Given the description of an element on the screen output the (x, y) to click on. 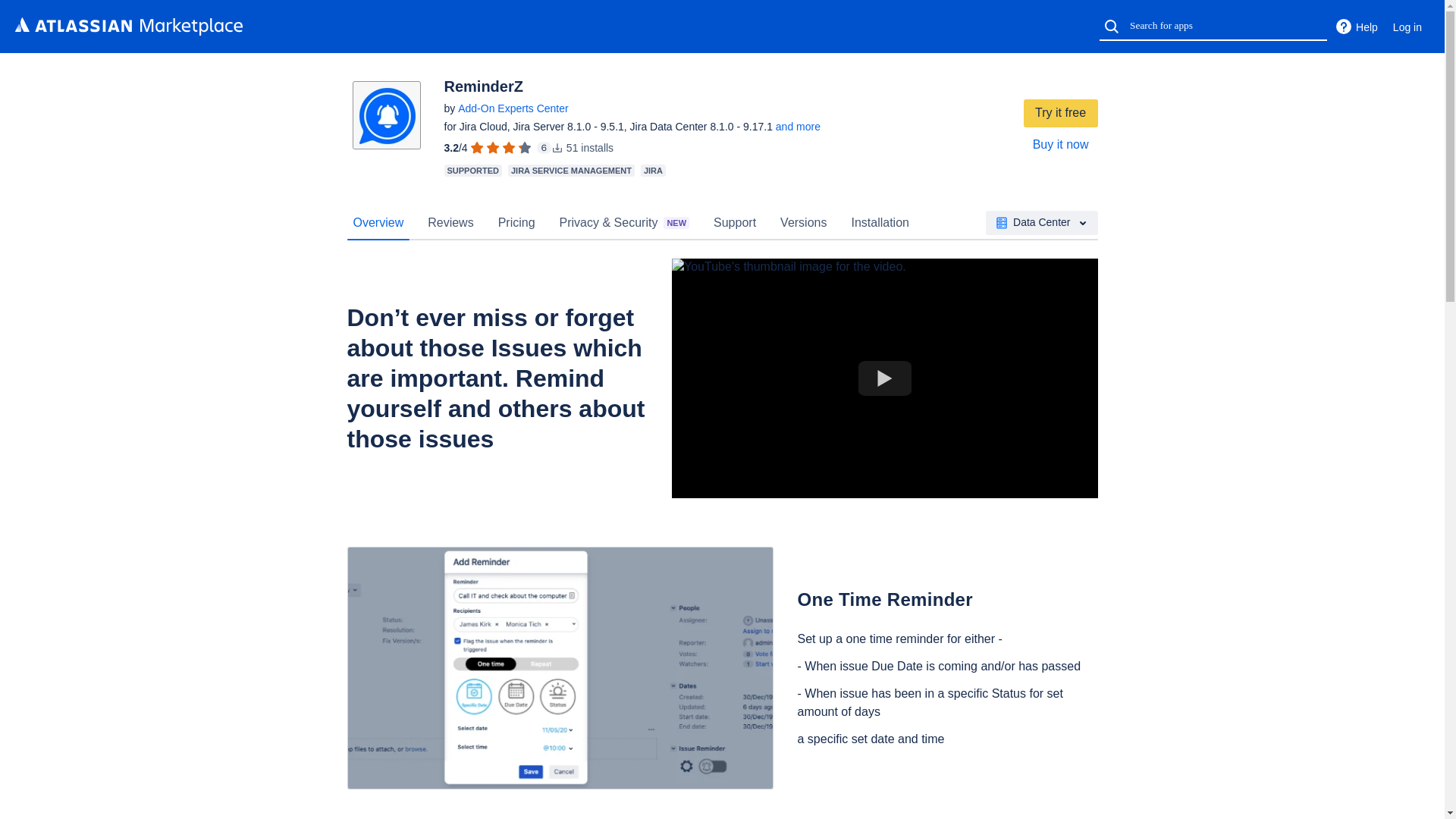
View version history for more details (798, 126)
and more (798, 126)
Buy it now (1060, 144)
Data Center (1041, 222)
Try it free (1060, 113)
Log in (1407, 26)
Help (1356, 26)
Atlassian Marketplace (128, 26)
Add-On Experts Center (513, 108)
